Given the description of an element on the screen output the (x, y) to click on. 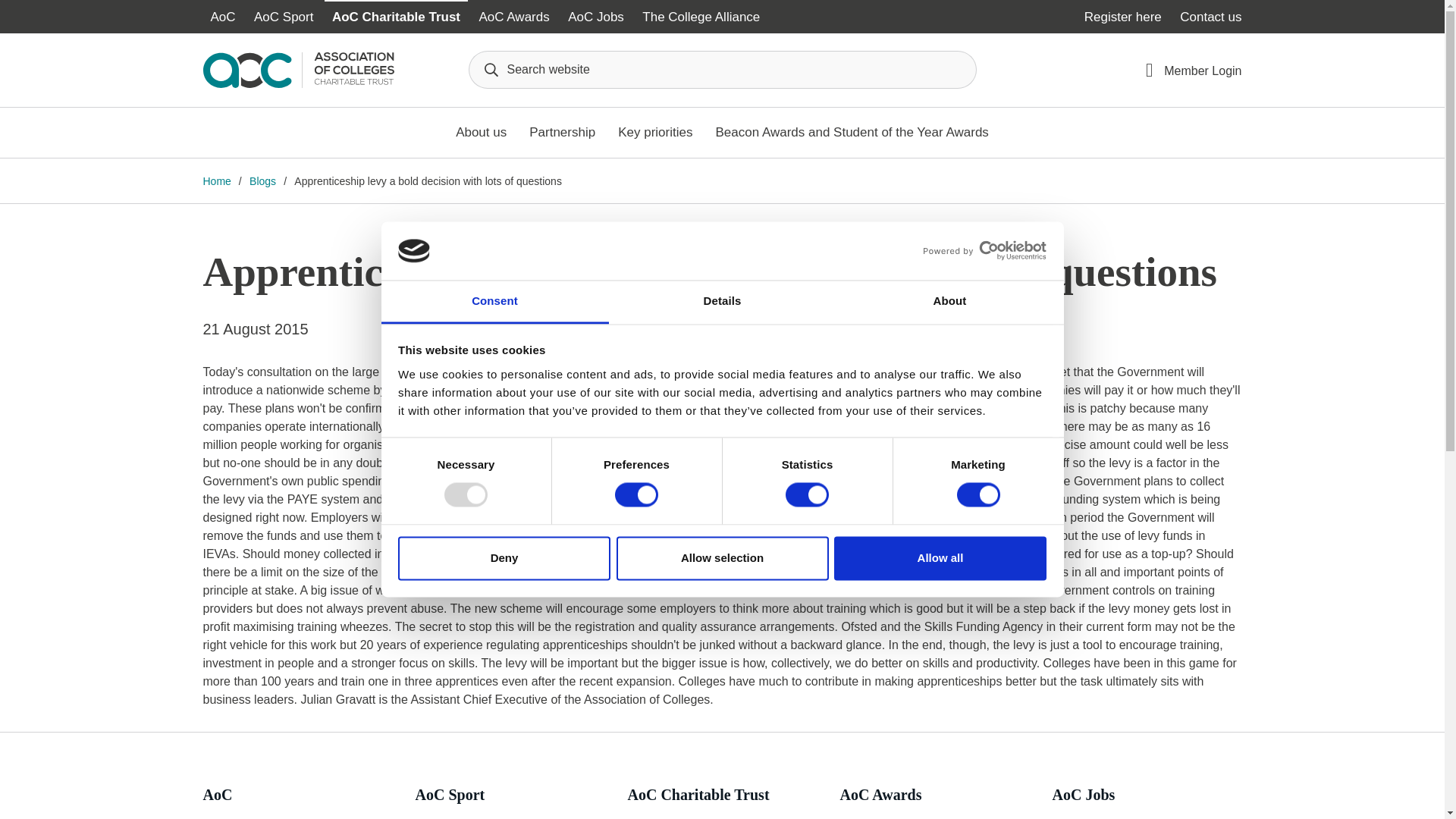
Consent (494, 301)
About (948, 301)
Details (721, 301)
